Given the description of an element on the screen output the (x, y) to click on. 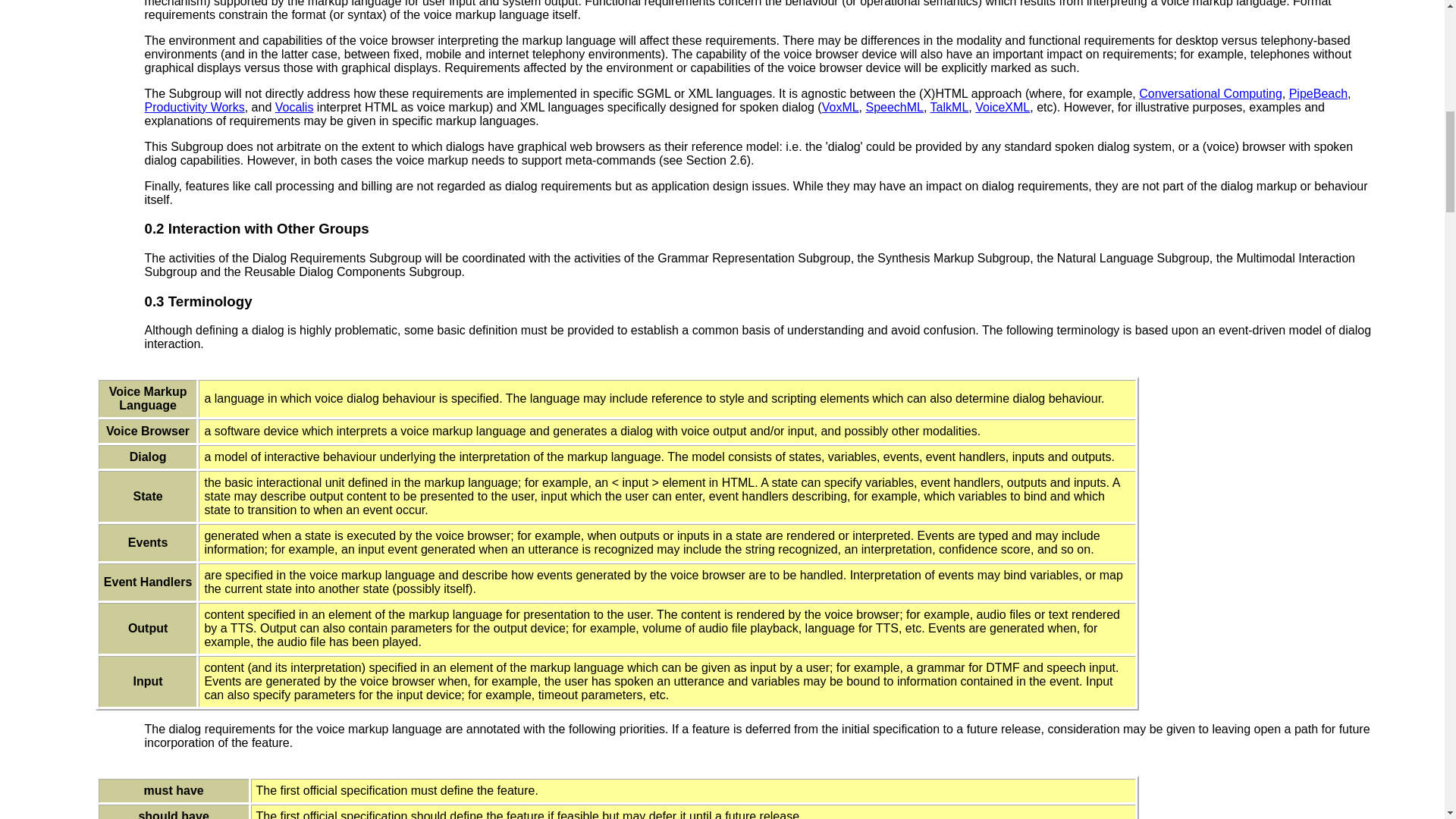
TalkML (949, 106)
PipeBeach (1318, 92)
Productivity Works (194, 106)
SpeechML (895, 106)
VoiceXML (1002, 106)
Vocalis (294, 106)
VoxML (840, 106)
Conversational Computing (1210, 92)
